Given the description of an element on the screen output the (x, y) to click on. 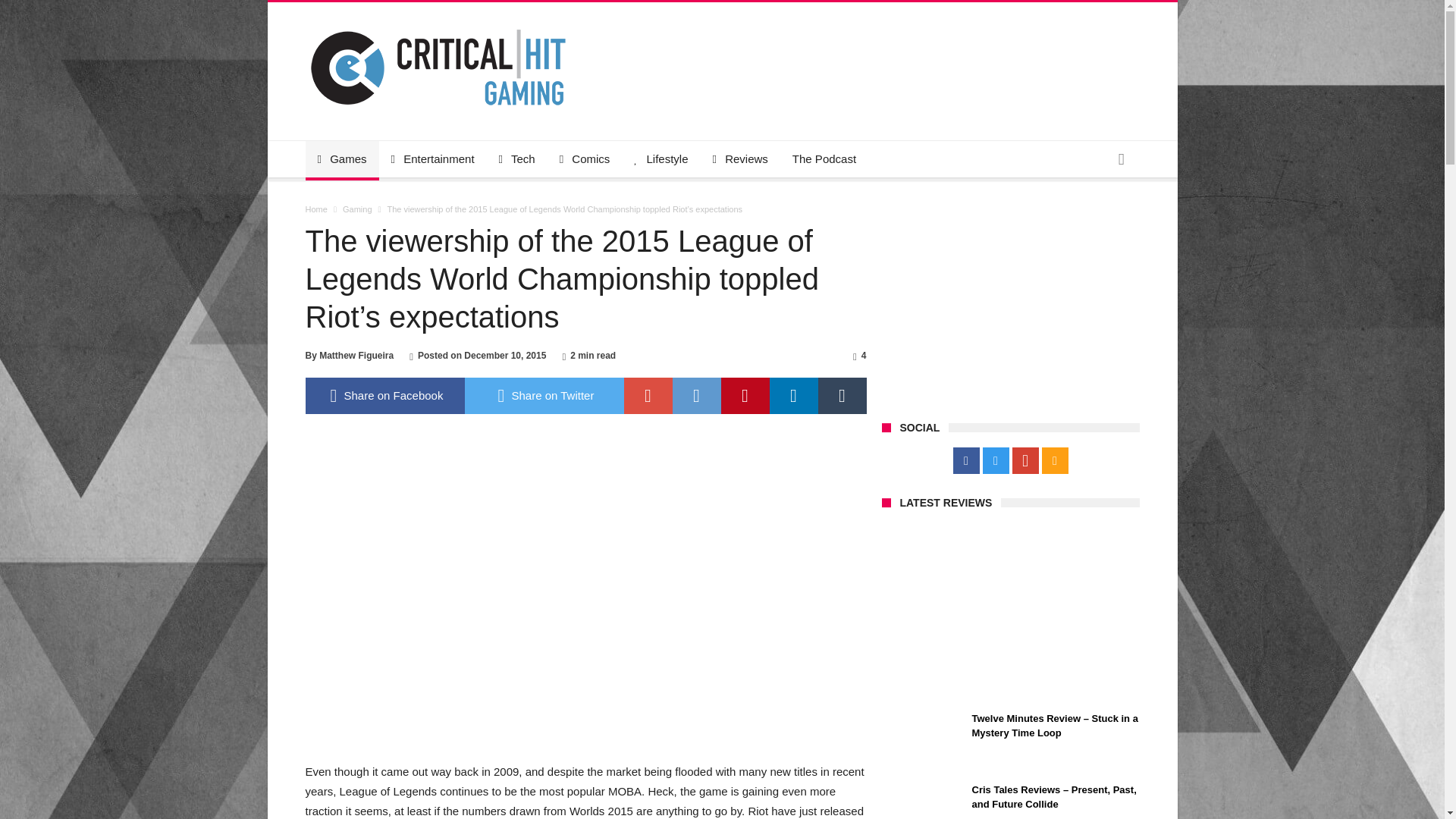
Share on Tumblr (841, 395)
pinterest (744, 395)
Share on Linkedin (792, 395)
Reviews (740, 158)
linkedin (792, 395)
Critical Hit (437, 24)
Home (315, 208)
Share on Facebook (384, 395)
google (647, 395)
Entertainment (432, 158)
